Given the description of an element on the screen output the (x, y) to click on. 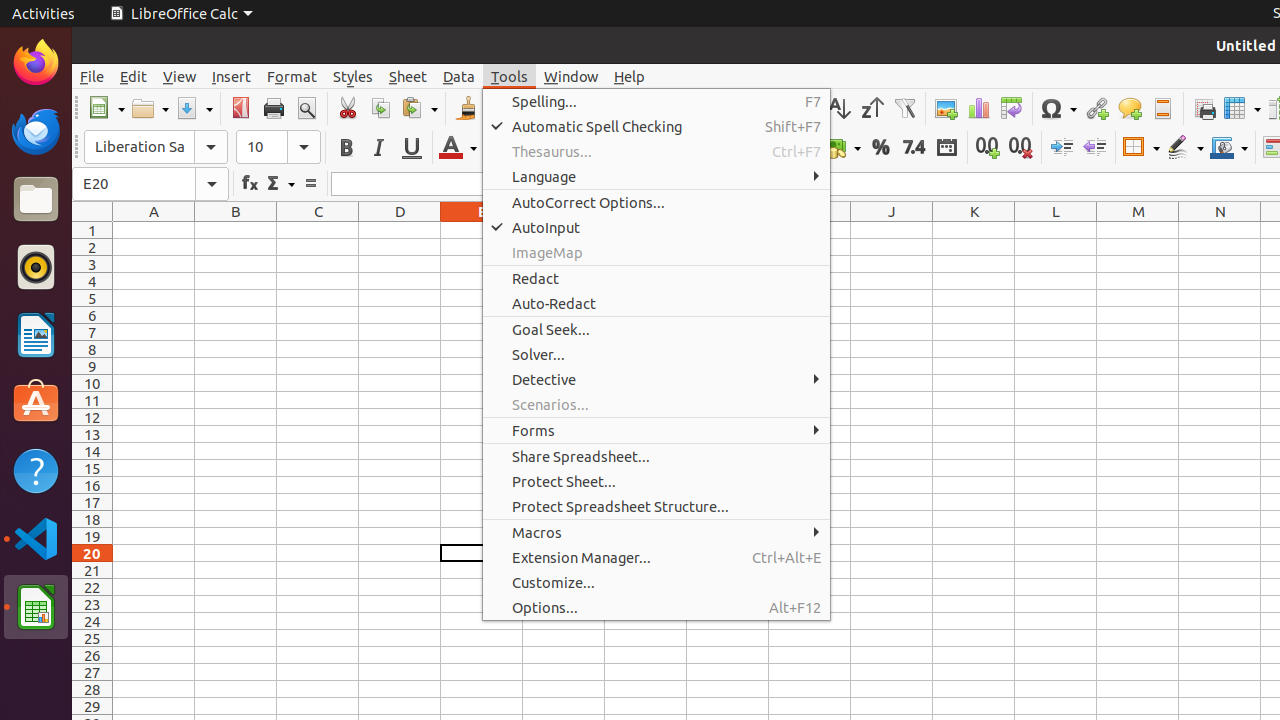
Sheet Element type: menu (408, 76)
Freeze Rows and Columns Element type: push-button (1242, 108)
Data Element type: menu (459, 76)
B1 Element type: table-cell (236, 230)
LibreOffice Calc Element type: menu (181, 13)
